Given the description of an element on the screen output the (x, y) to click on. 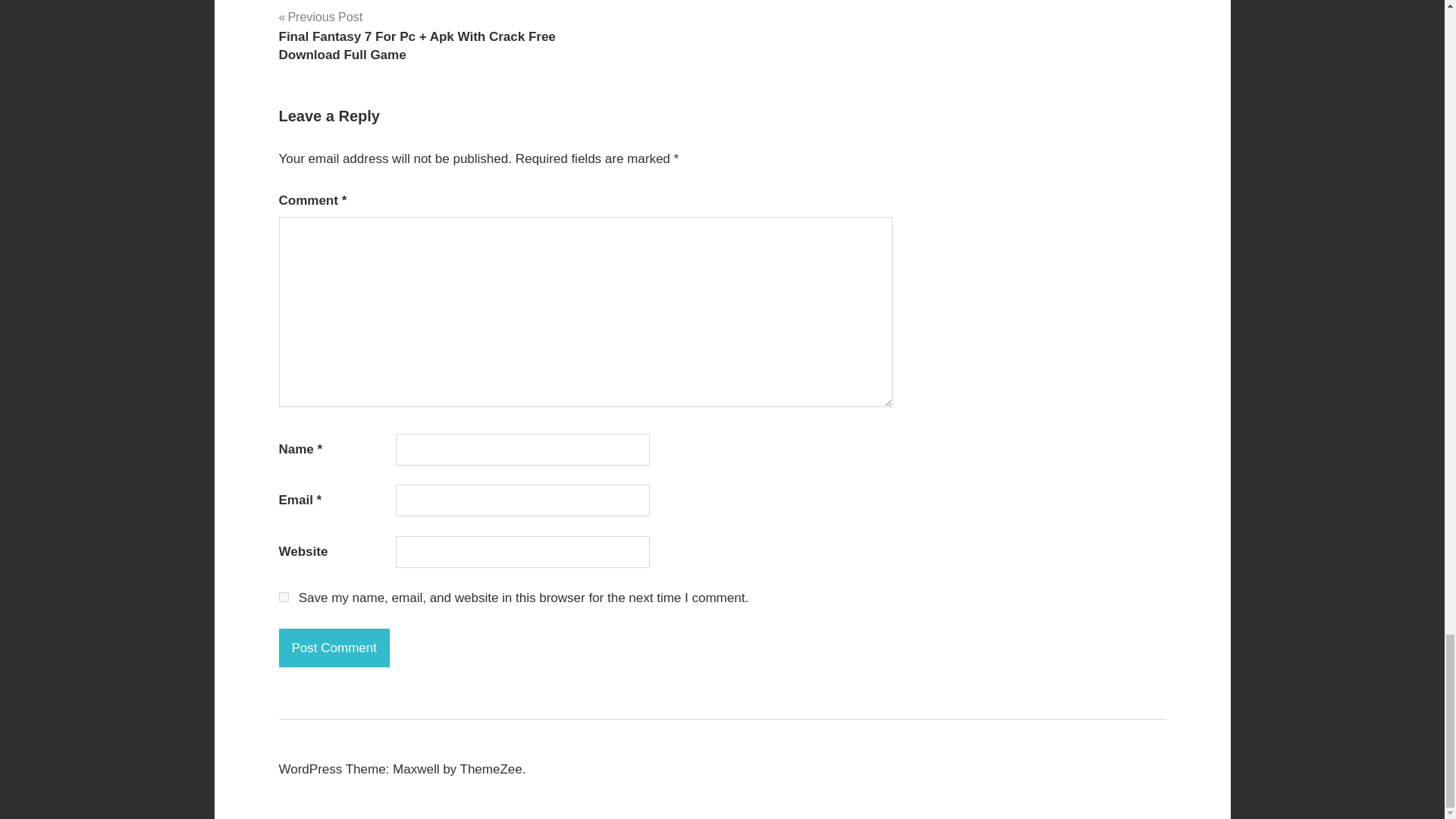
Post Comment (334, 647)
yes (283, 596)
Post Comment (334, 647)
